Given the description of an element on the screen output the (x, y) to click on. 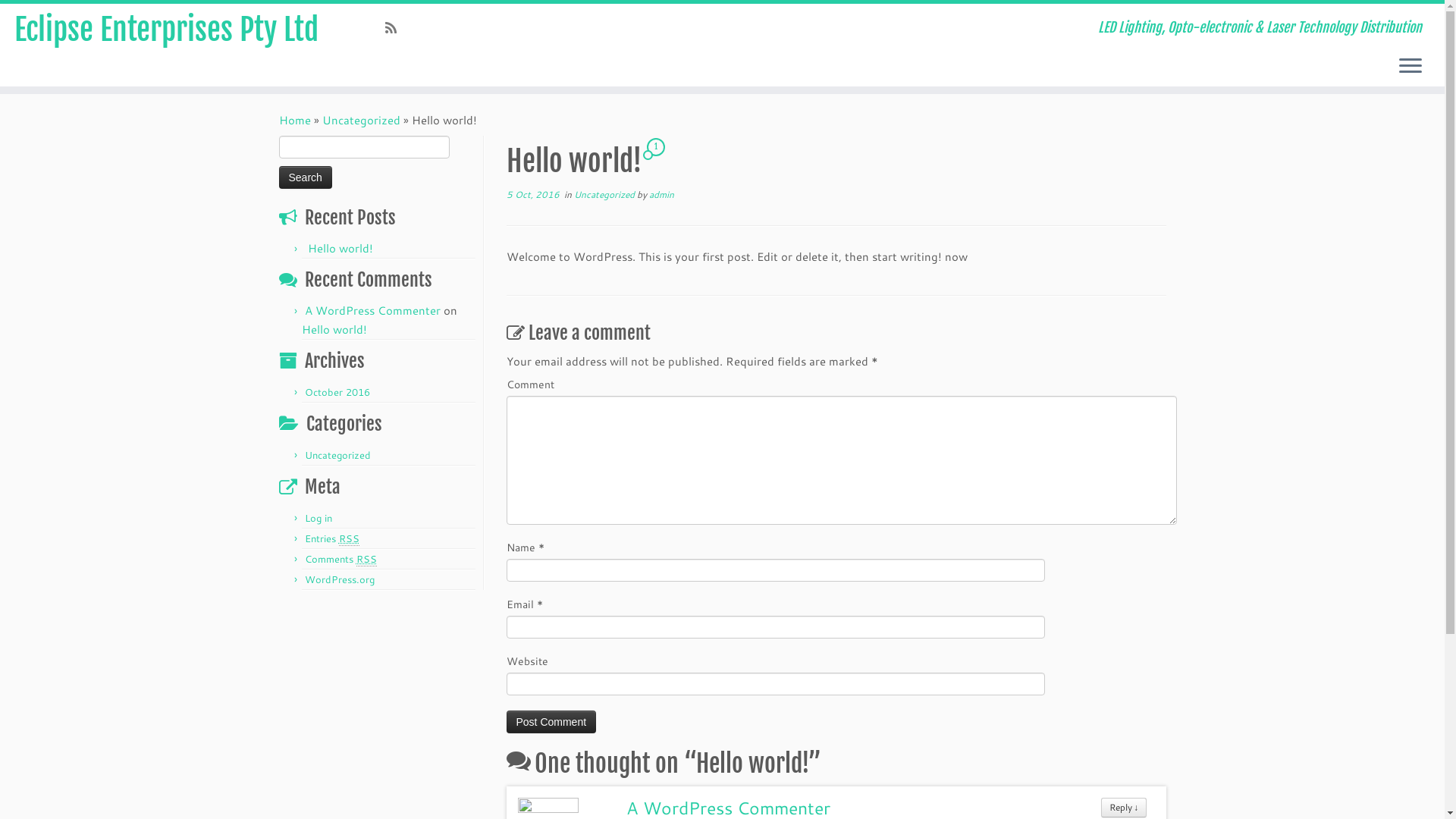
Post Comment Element type: text (551, 721)
Open the menu Element type: hover (1410, 66)
Hello world! Element type: text (334, 329)
Comments RSS Element type: text (340, 559)
Log in Element type: text (318, 517)
Uncategorized Element type: text (360, 120)
Entries RSS Element type: text (331, 538)
WordPress.org Element type: text (339, 579)
1 Element type: text (656, 153)
Home Element type: text (294, 120)
A WordPress Commenter Element type: text (372, 310)
admin Element type: text (661, 194)
5 Oct, 2016 Element type: text (532, 194)
Subscribe to my rss feed Element type: hover (395, 27)
Uncategorized Element type: text (604, 194)
Search Element type: text (305, 177)
October 2016 Element type: text (337, 391)
Eclipse Enterprises Pty Ltd Element type: text (166, 29)
Uncategorized Element type: text (337, 454)
Hello world! Element type: text (340, 248)
